Given the description of an element on the screen output the (x, y) to click on. 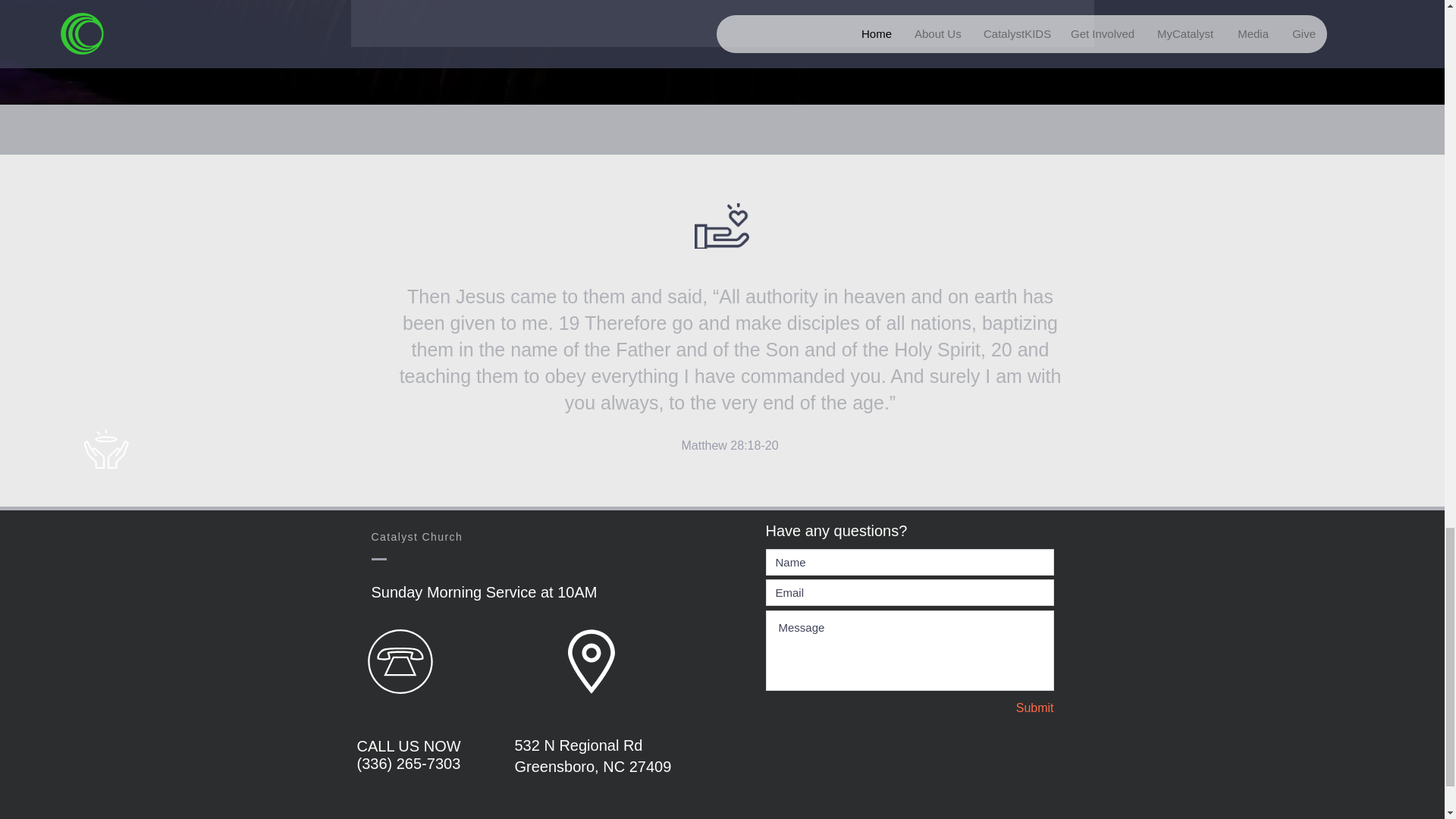
Submit (1000, 708)
